Given the description of an element on the screen output the (x, y) to click on. 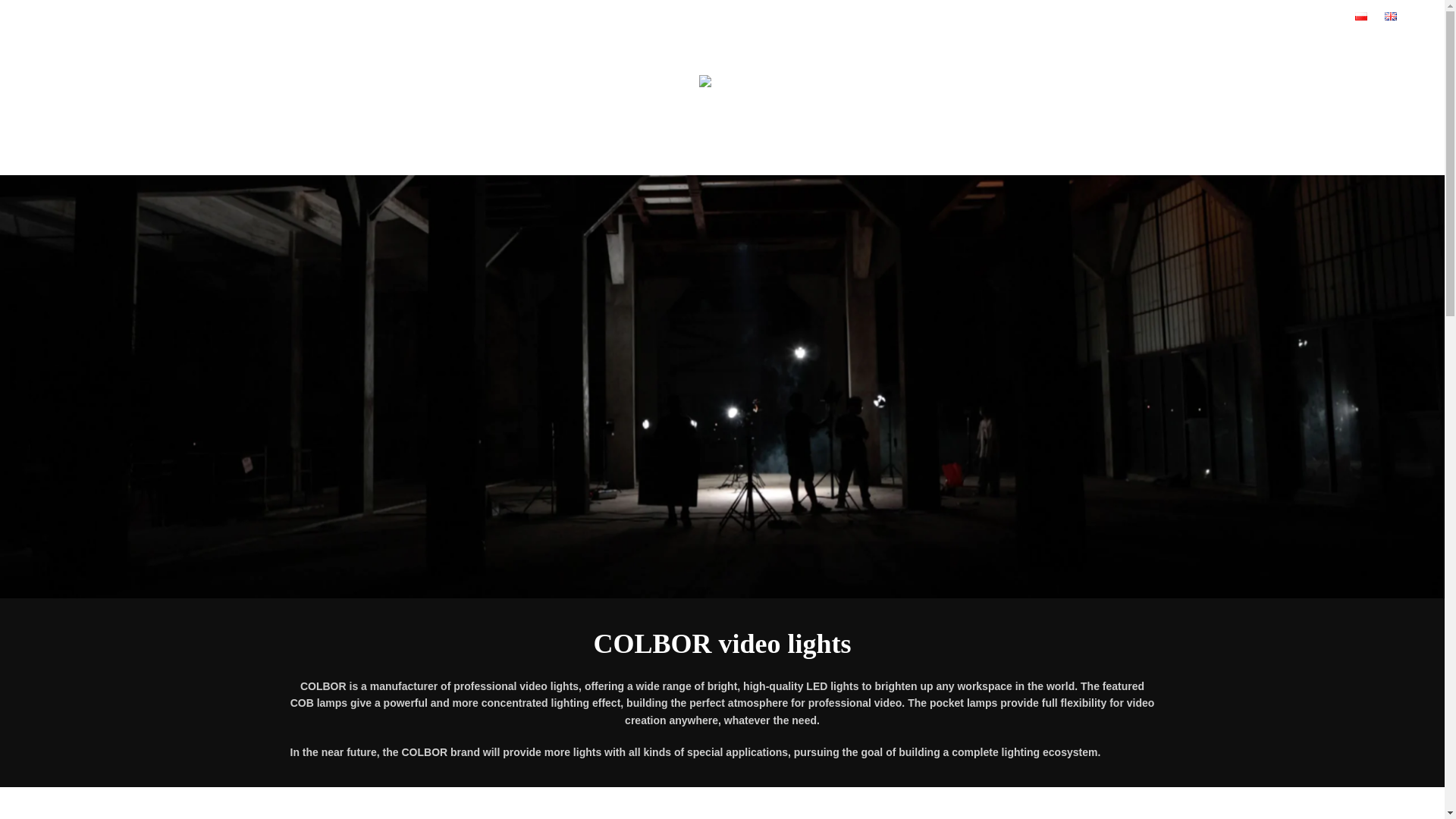
WHERE TO BUY (867, 155)
CONTACT (958, 155)
MAIN PAGE (487, 155)
COLBOR LAMPS (586, 155)
APPS (671, 155)
ABOUT COLBOR (756, 155)
